Given the description of an element on the screen output the (x, y) to click on. 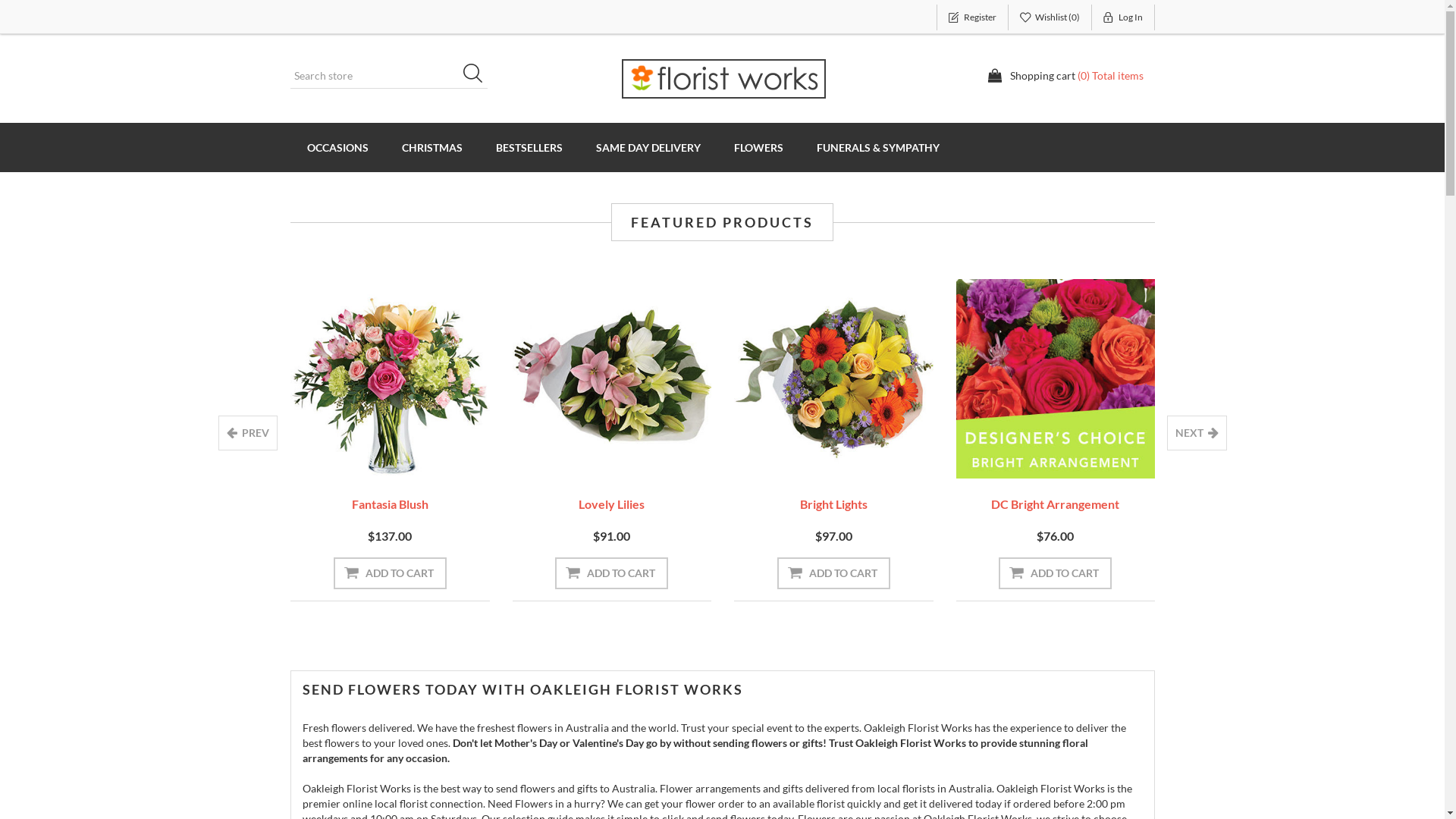
Add to cart Element type: text (1276, 572)
Register Element type: text (971, 17)
Add to cart Element type: text (389, 572)
FUNERALS & SYMPATHY Element type: text (877, 147)
OCCASIONS Element type: text (336, 147)
Add to Wishlist Element type: text (144, 457)
Show details for Fantasia Blush Element type: hover (389, 378)
Add to Compare List Element type: text (1301, 457)
Add to Compare List Element type: text (414, 457)
Add to Wishlist Element type: text (1253, 457)
Add to cart Element type: text (167, 572)
Add to Wishlist Element type: text (809, 457)
Add to Compare List Element type: text (635, 457)
Add to Wishlist Element type: text (1031, 457)
SAME DAY DELIVERY Element type: text (648, 147)
Add to Wishlist Element type: text (587, 457)
Add to cart Element type: text (833, 572)
Add to Compare List Element type: text (857, 457)
Log In Element type: text (1123, 17)
Shopping cart (0) Total items Element type: text (1065, 75)
Add to Compare List Element type: text (191, 457)
Bright Lights Element type: text (833, 502)
PREV Element type: text (247, 432)
Add to cart Element type: text (611, 572)
Add to cart Element type: text (1054, 572)
Add to Wishlist Element type: text (366, 457)
Fantasia Blush Element type: text (389, 502)
Show details for Bright Lights Element type: hover (833, 378)
Wishlist (0) Element type: text (1050, 17)
CHRISTMAS Element type: text (432, 147)
NEXT Element type: text (1196, 432)
Show details for DC Bright arrangement Element type: hover (1054, 378)
Add to Compare List Element type: text (1079, 457)
DC Bright Arrangement Element type: text (1055, 502)
Show details for Lovely Lilies Element type: hover (612, 378)
FLOWERS Element type: text (758, 147)
BESTSELLERS Element type: text (529, 147)
Lovely Lilies Element type: text (611, 502)
